Given the description of an element on the screen output the (x, y) to click on. 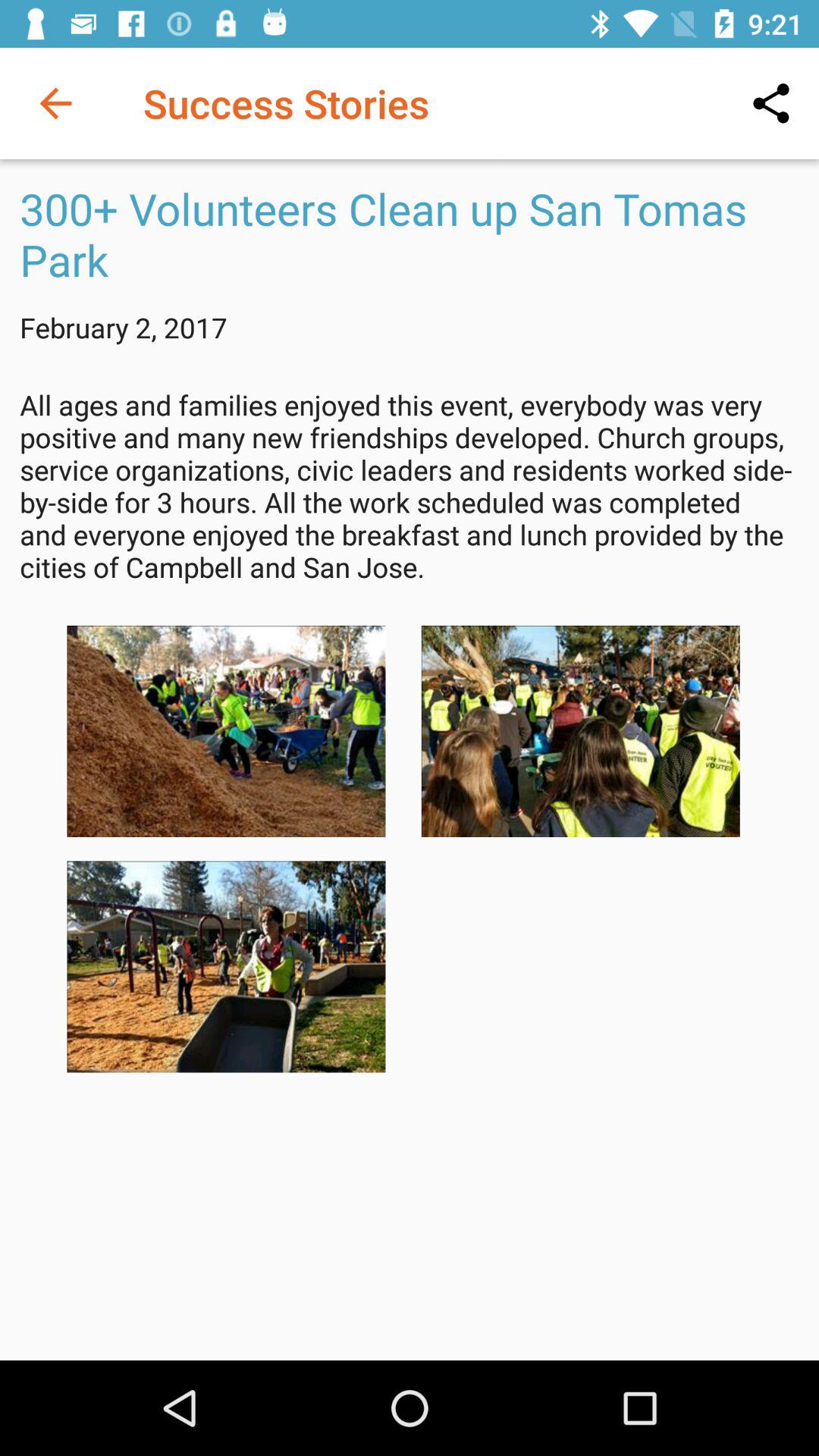
launch item at the top left corner (55, 103)
